Given the description of an element on the screen output the (x, y) to click on. 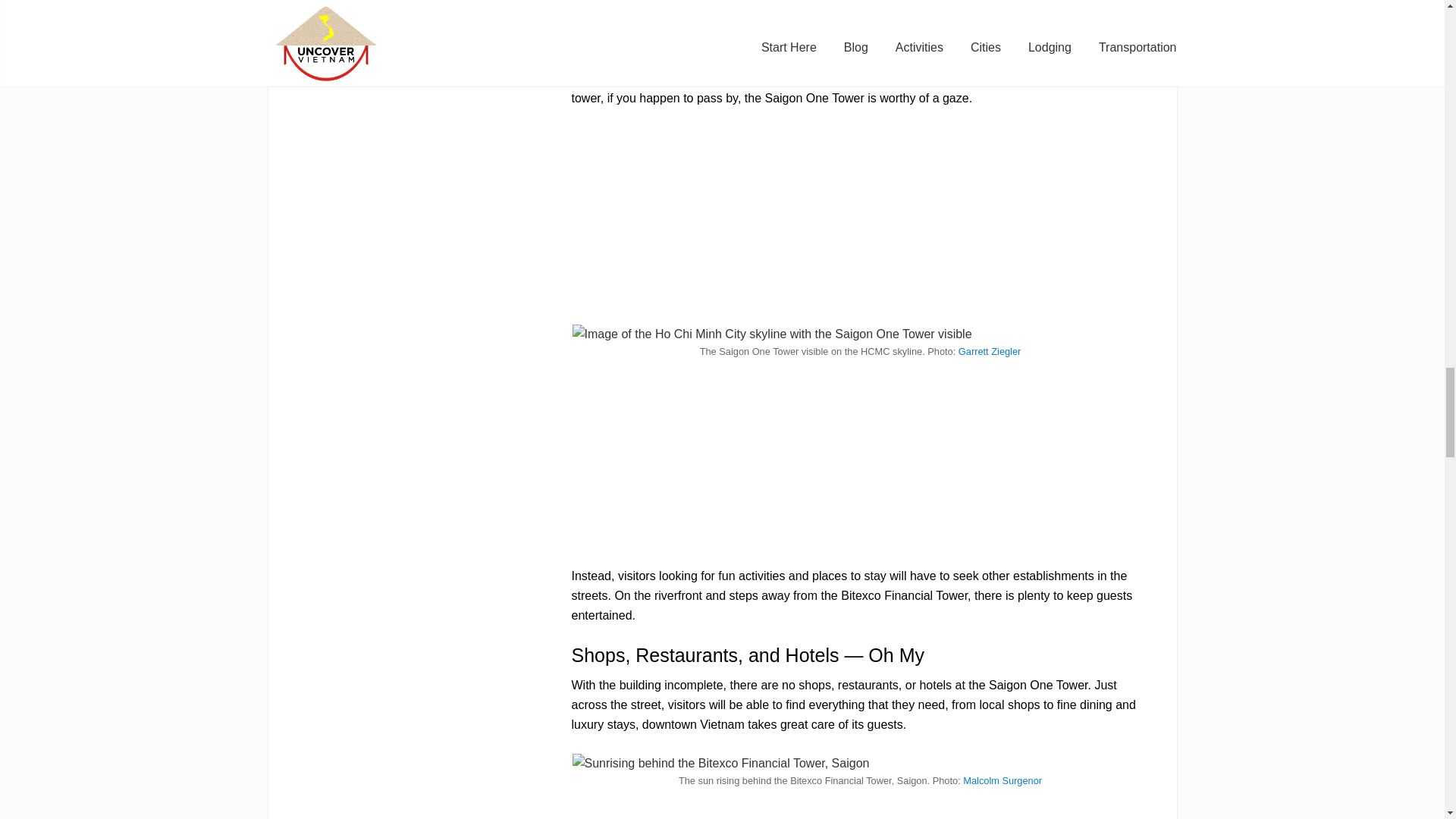
Garrett Ziegler (990, 351)
Malcolm Surgenor (1002, 780)
